Given the description of an element on the screen output the (x, y) to click on. 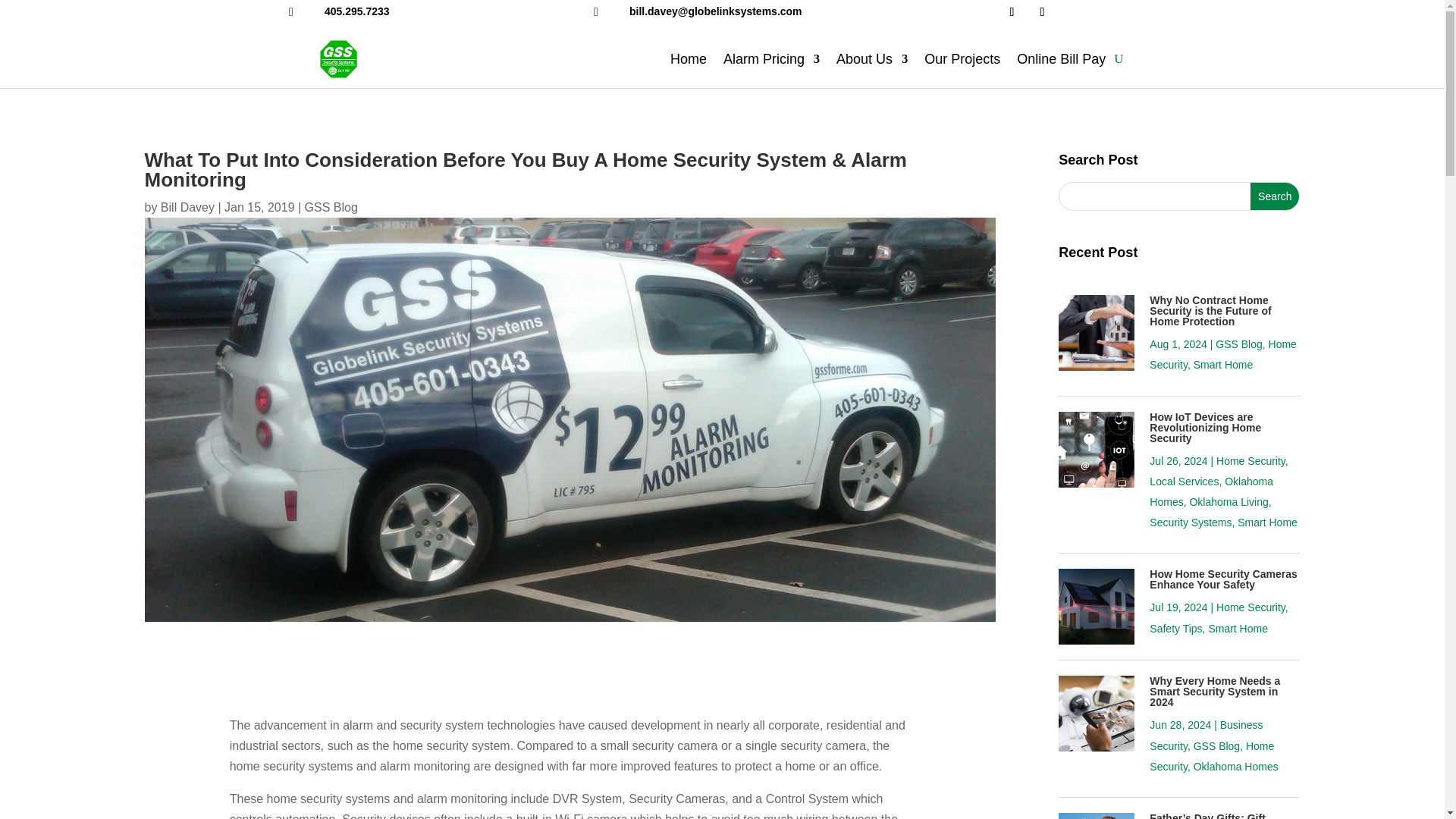
Alarm Pricing (771, 58)
Posts by Bill Davey (187, 206)
Search (1274, 195)
About Us (871, 58)
Follow on X (1041, 12)
405.295.7233 (357, 10)
Our Projects (962, 58)
Online Bill Pay (1060, 58)
Follow on Facebook (1010, 12)
